Given the description of an element on the screen output the (x, y) to click on. 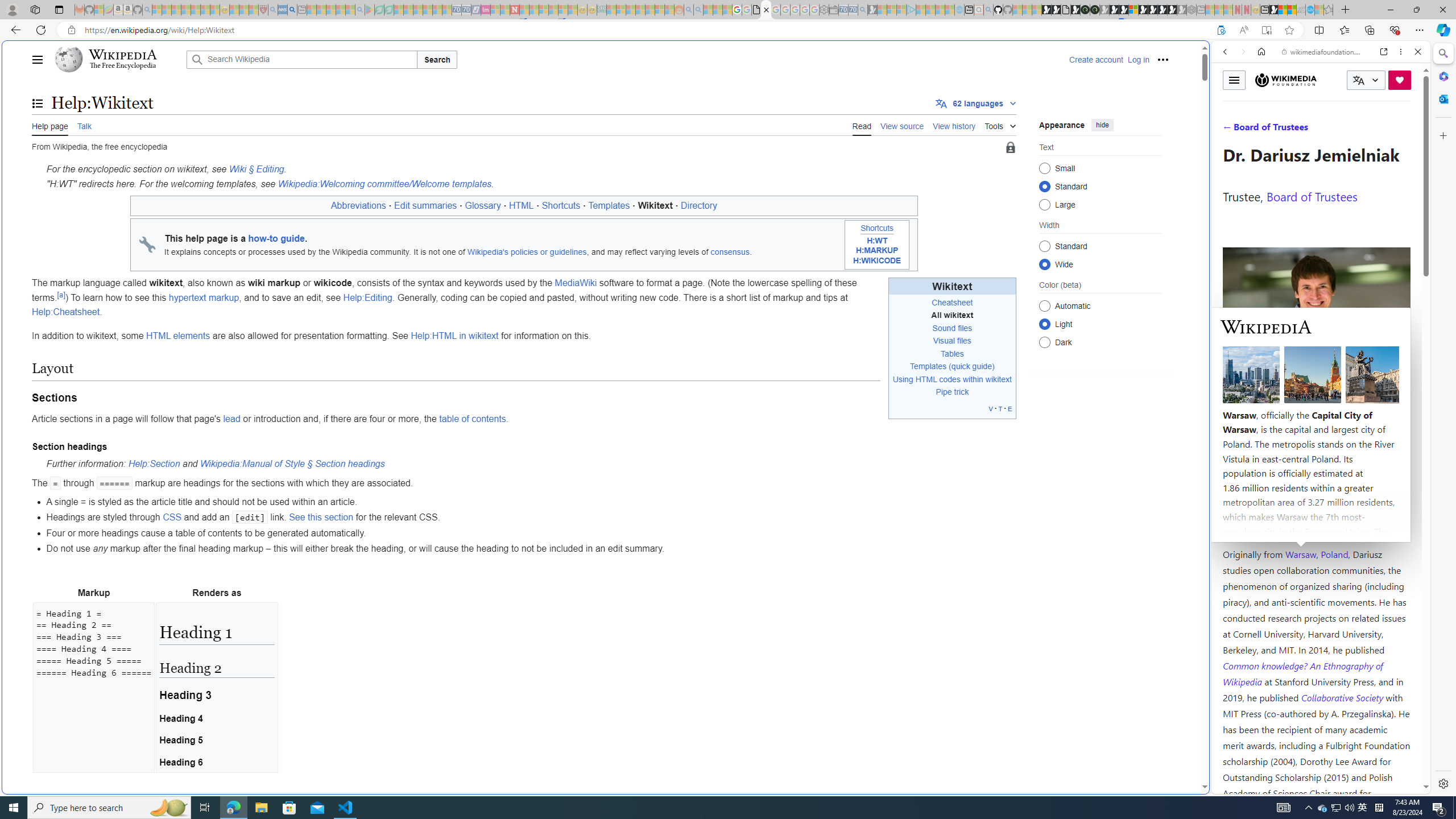
Create account (1095, 58)
Pipe trick (951, 391)
Utah sues federal government - Search - Sleeping (697, 9)
how-to guide (275, 238)
Visual files (951, 340)
Web scope (1230, 102)
Directory (699, 205)
Open link in new tab (1383, 51)
